Given the description of an element on the screen output the (x, y) to click on. 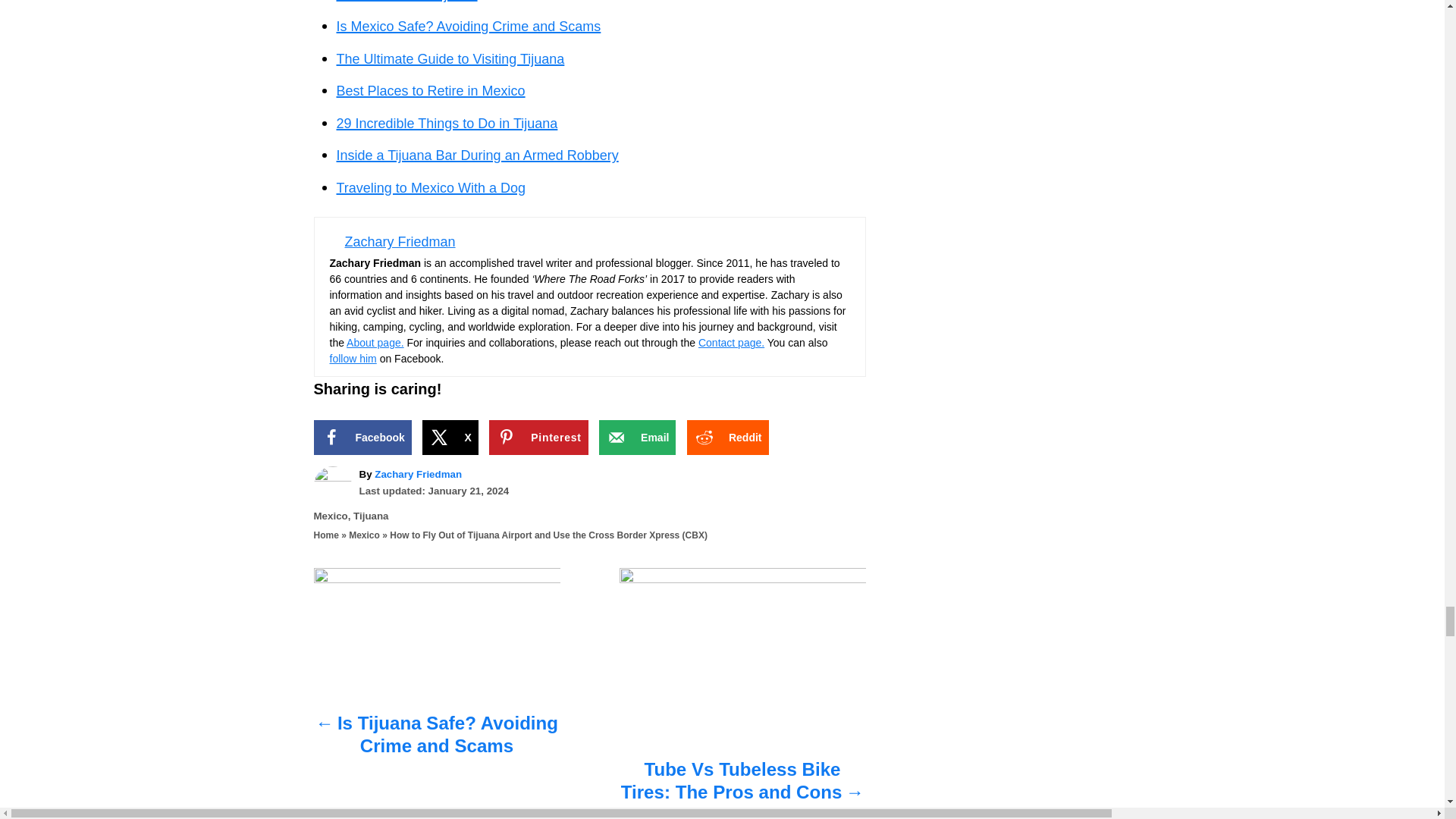
Share on Reddit (727, 437)
Share on Facebook (363, 437)
Save to Pinterest (538, 437)
Share on X (449, 437)
Send over email (636, 437)
